Given the description of an element on the screen output the (x, y) to click on. 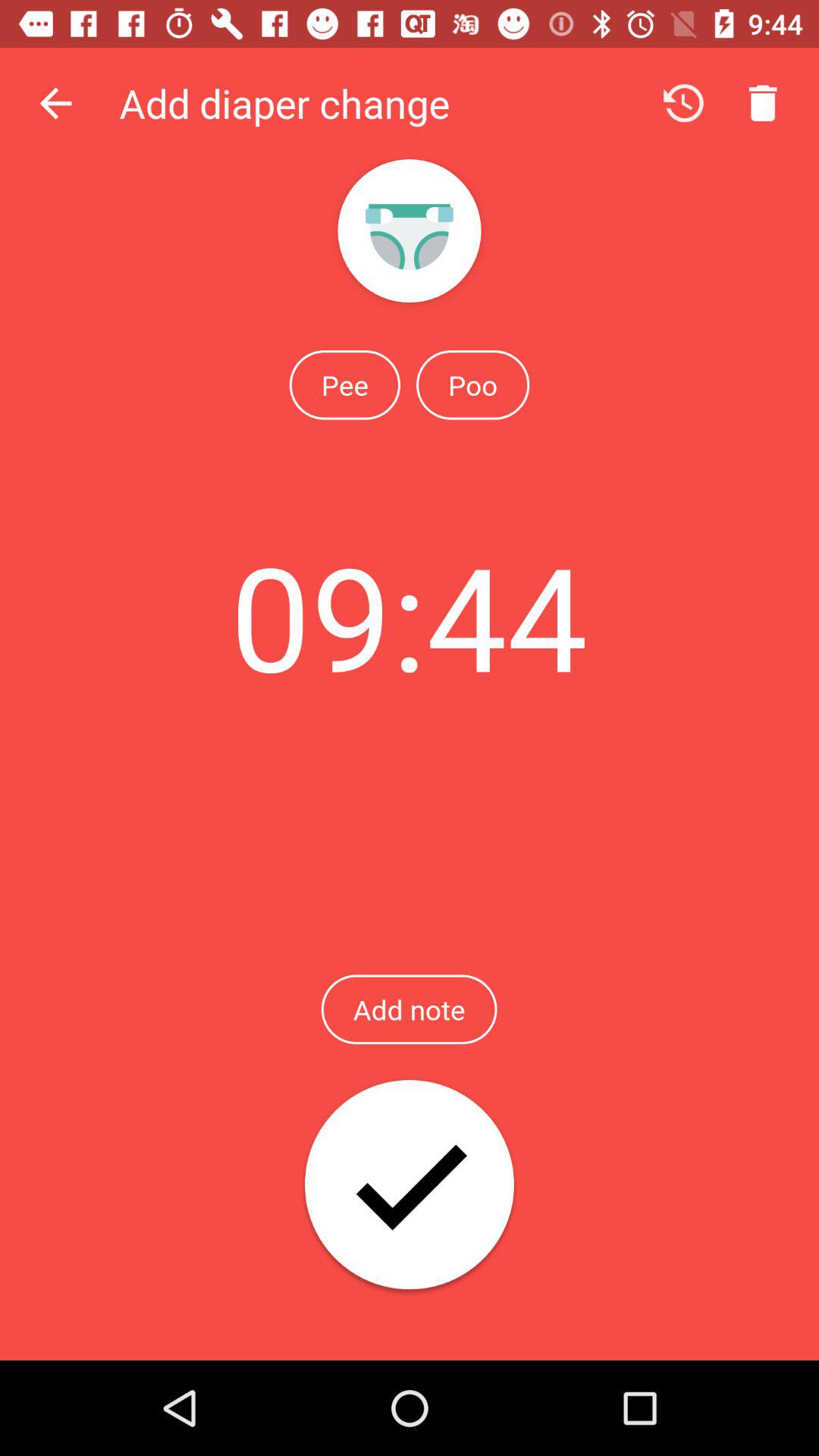
open the item above 09:44 icon (344, 384)
